Given the description of an element on the screen output the (x, y) to click on. 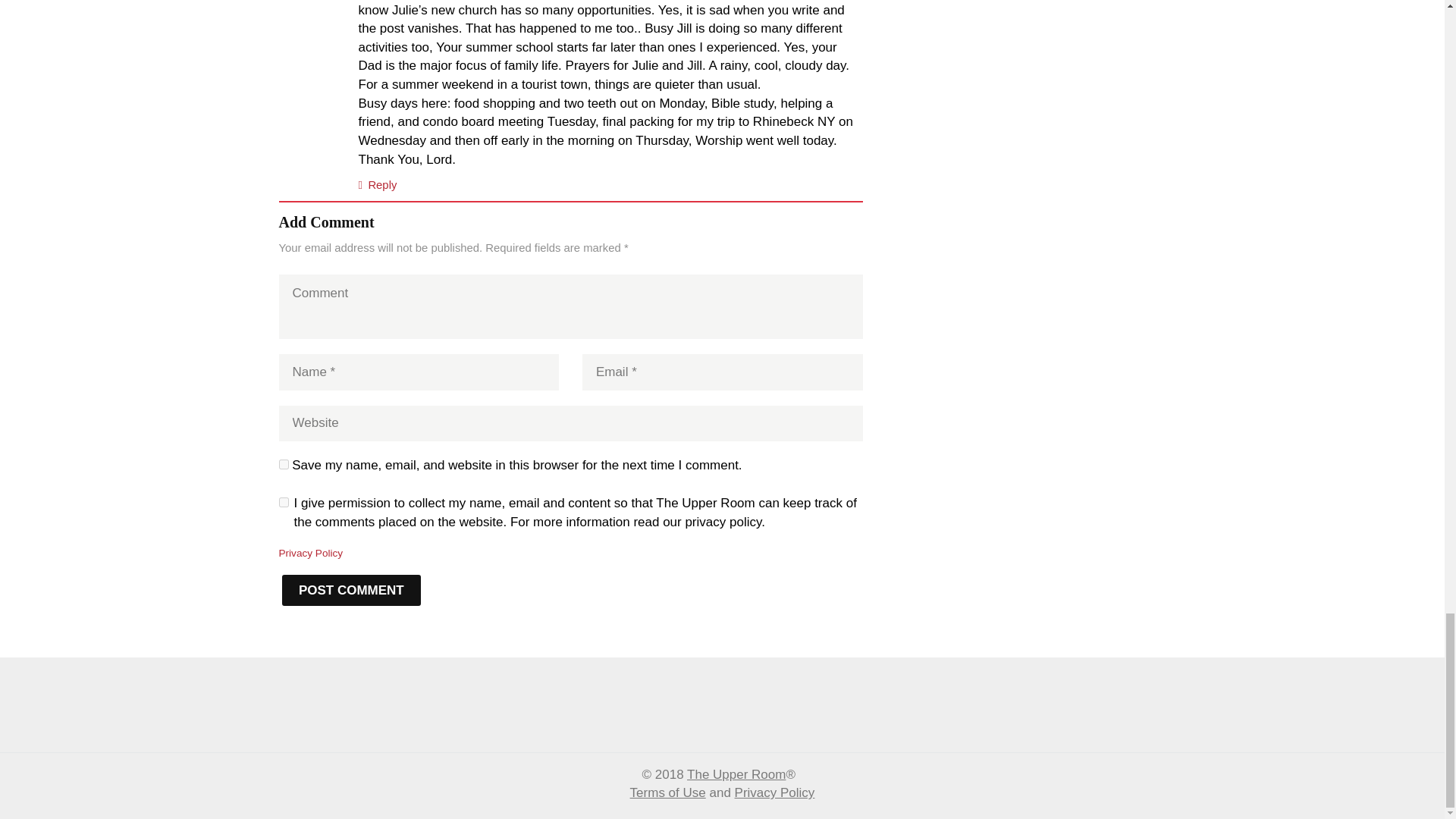
Post Comment (352, 590)
1 (283, 501)
yes (283, 464)
